Given the description of an element on the screen output the (x, y) to click on. 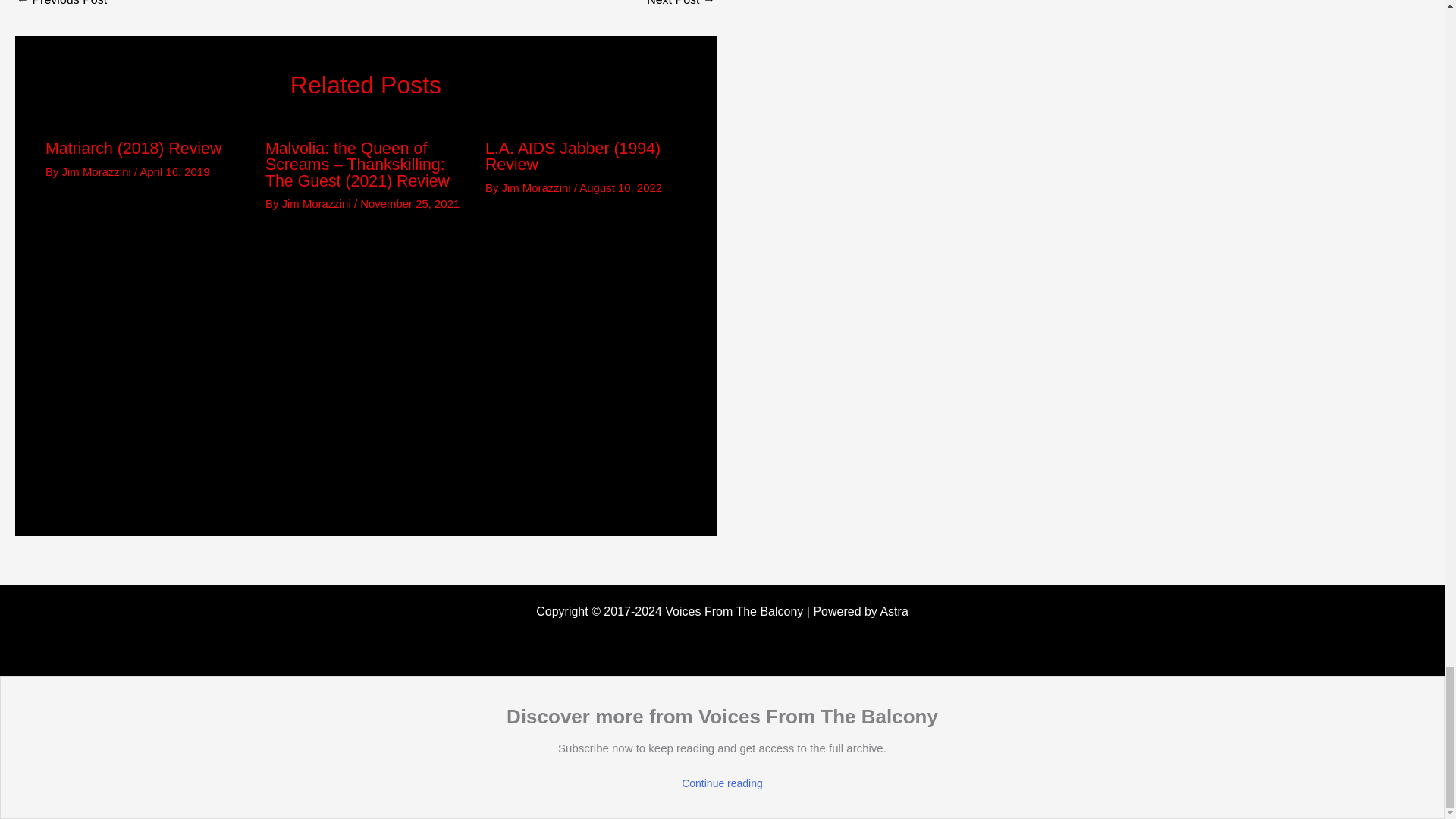
View all posts by Jim Morazzini (97, 171)
View all posts by Jim Morazzini (317, 203)
View all posts by Jim Morazzini (537, 187)
Jim Morazzini (317, 203)
Jim Morazzini (97, 171)
